Given the description of an element on the screen output the (x, y) to click on. 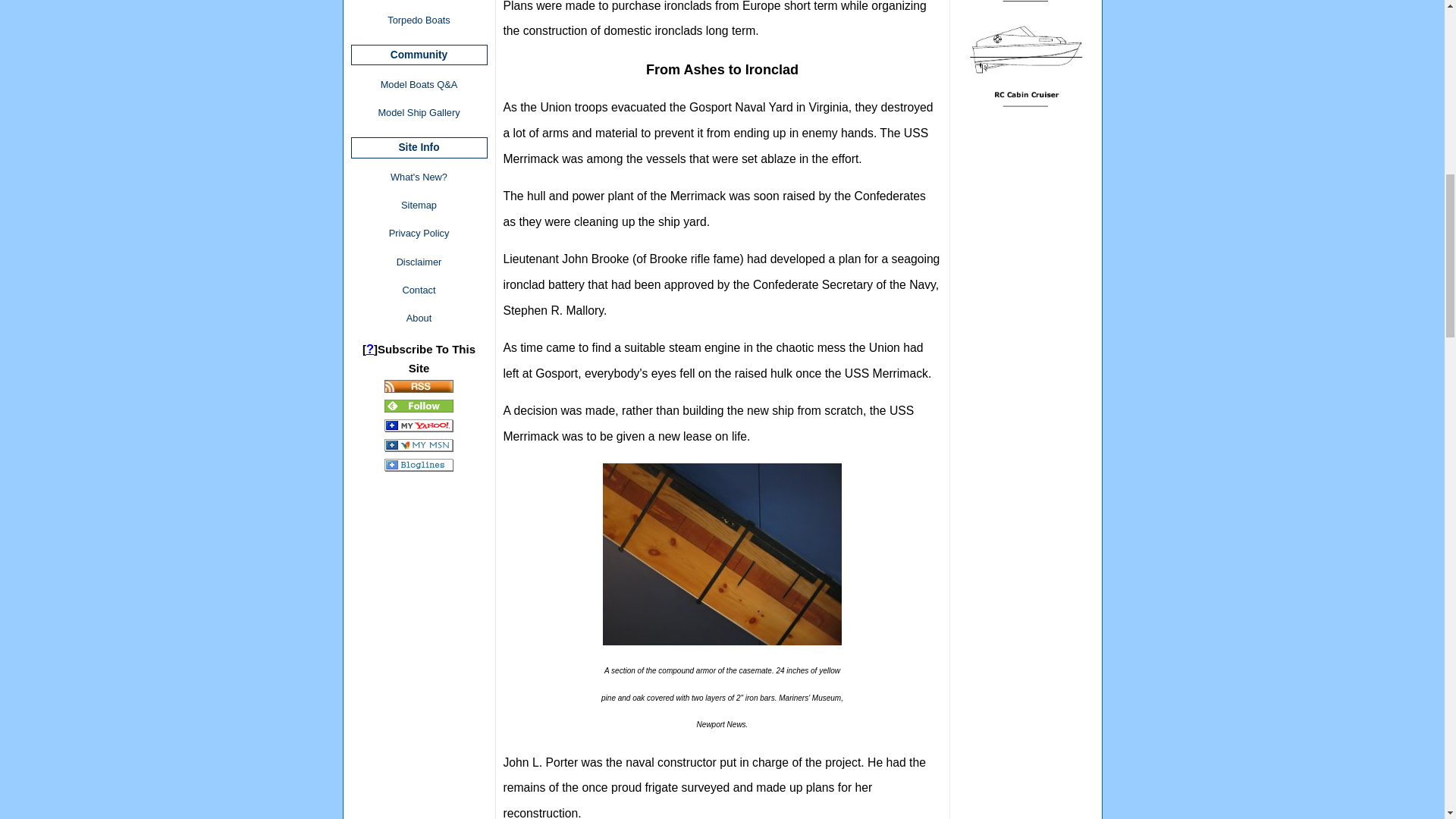
Torpedo Boats (418, 19)
US Battleships (418, 2)
Sitemap (418, 204)
About (418, 317)
Model Ship Gallery (418, 112)
model boat plans store thumbnail image (1025, 62)
Contact (418, 289)
What's New? (418, 176)
Privacy Policy (418, 233)
Disclaimer (418, 261)
